Given the description of an element on the screen output the (x, y) to click on. 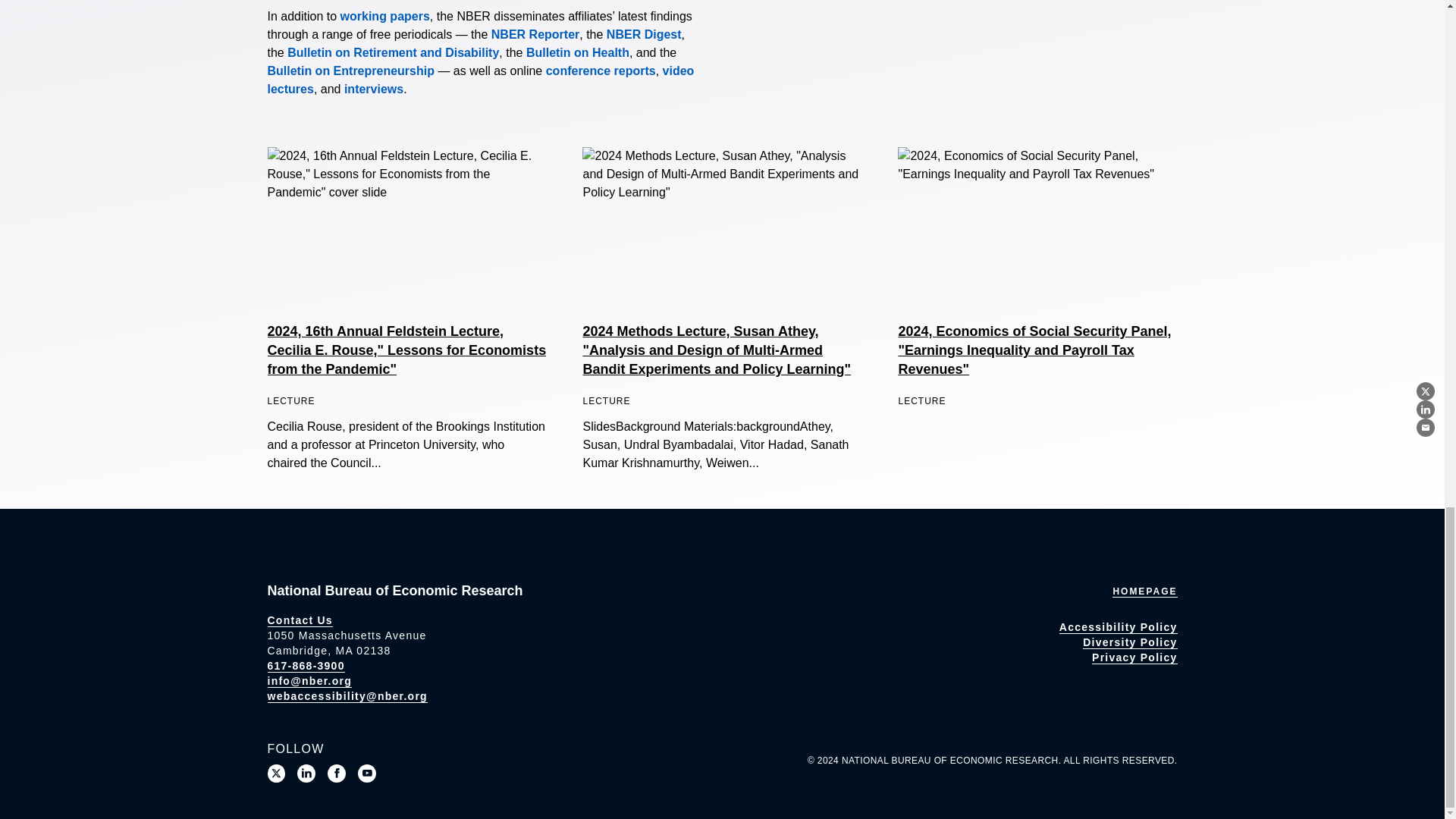
Conferences (601, 70)
Lectures (480, 79)
Working Papers (384, 15)
Research Spotlights (373, 88)
